Given the description of an element on the screen output the (x, y) to click on. 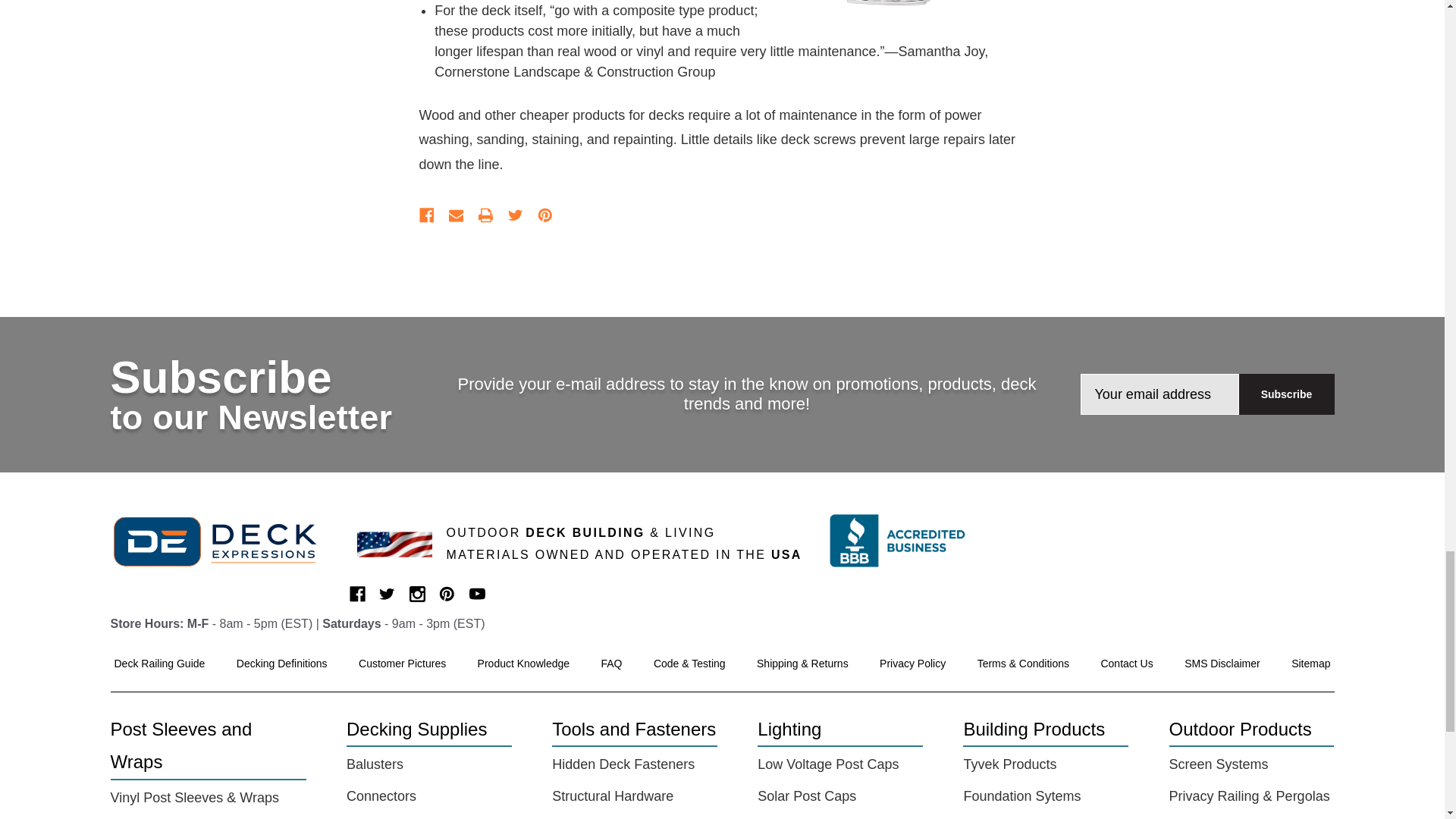
Pinterest (446, 593)
Subscribe (1287, 393)
Twitter (386, 593)
Facebook (357, 593)
Youtube (476, 593)
Deck Expressions (223, 541)
Instagram (417, 593)
